Given the description of an element on the screen output the (x, y) to click on. 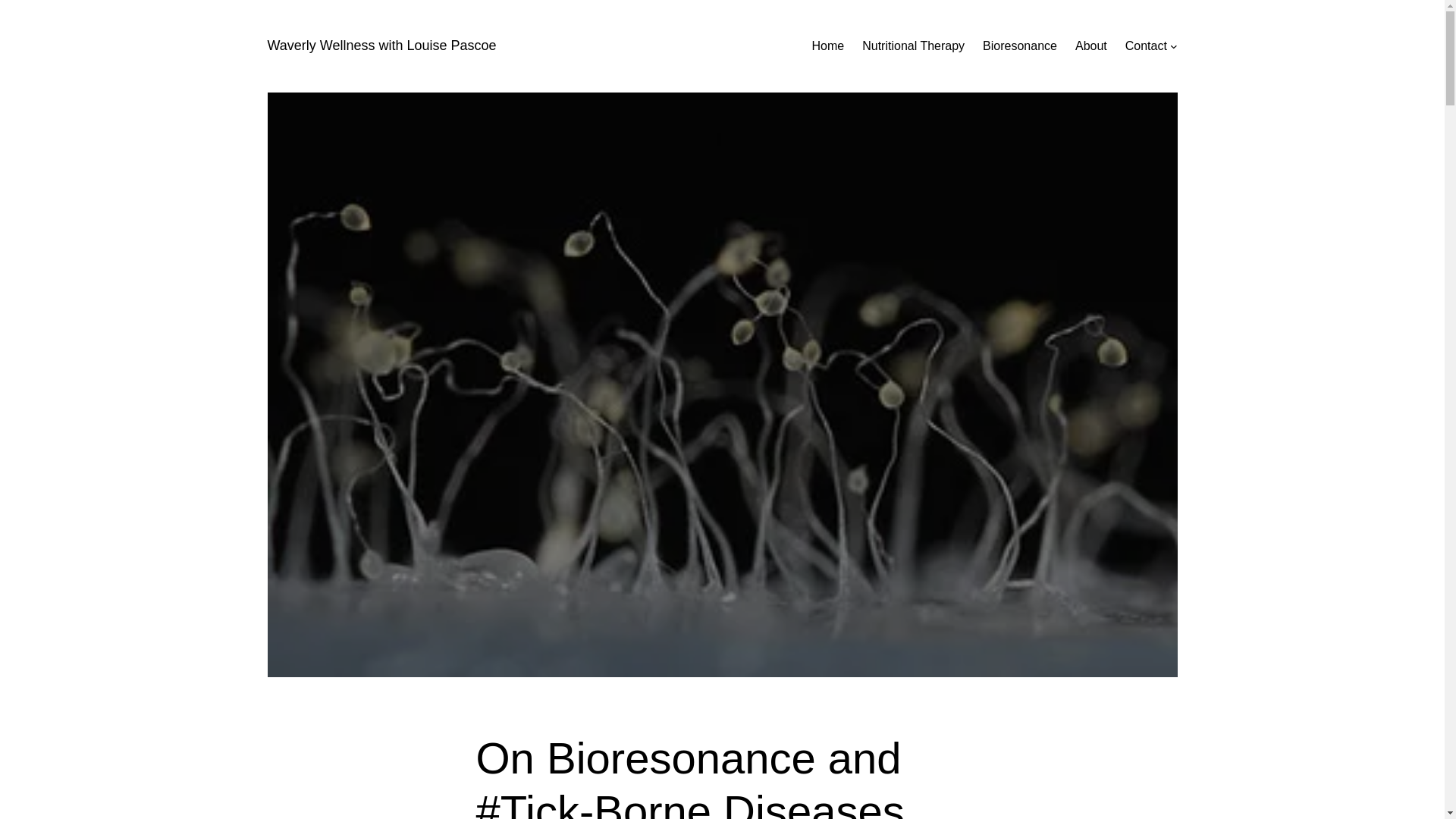
Contact (1146, 46)
Waverly Wellness with Louise Pascoe (381, 45)
About (1090, 46)
Home (828, 46)
Bioresonance (1019, 46)
Nutritional Therapy (912, 46)
